Given the description of an element on the screen output the (x, y) to click on. 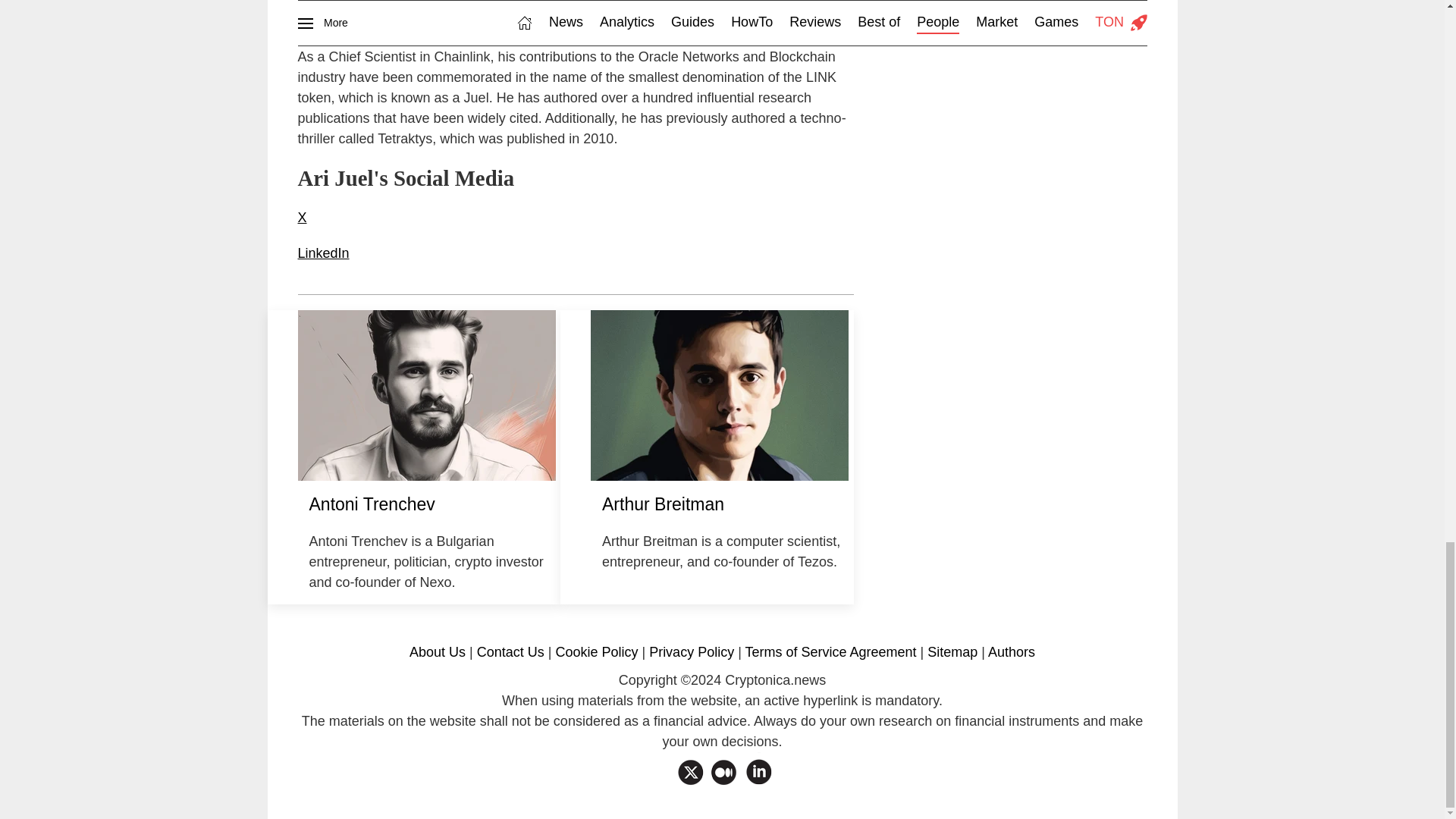
Ari Juels (719, 395)
Ari Juels (425, 395)
